Given the description of an element on the screen output the (x, y) to click on. 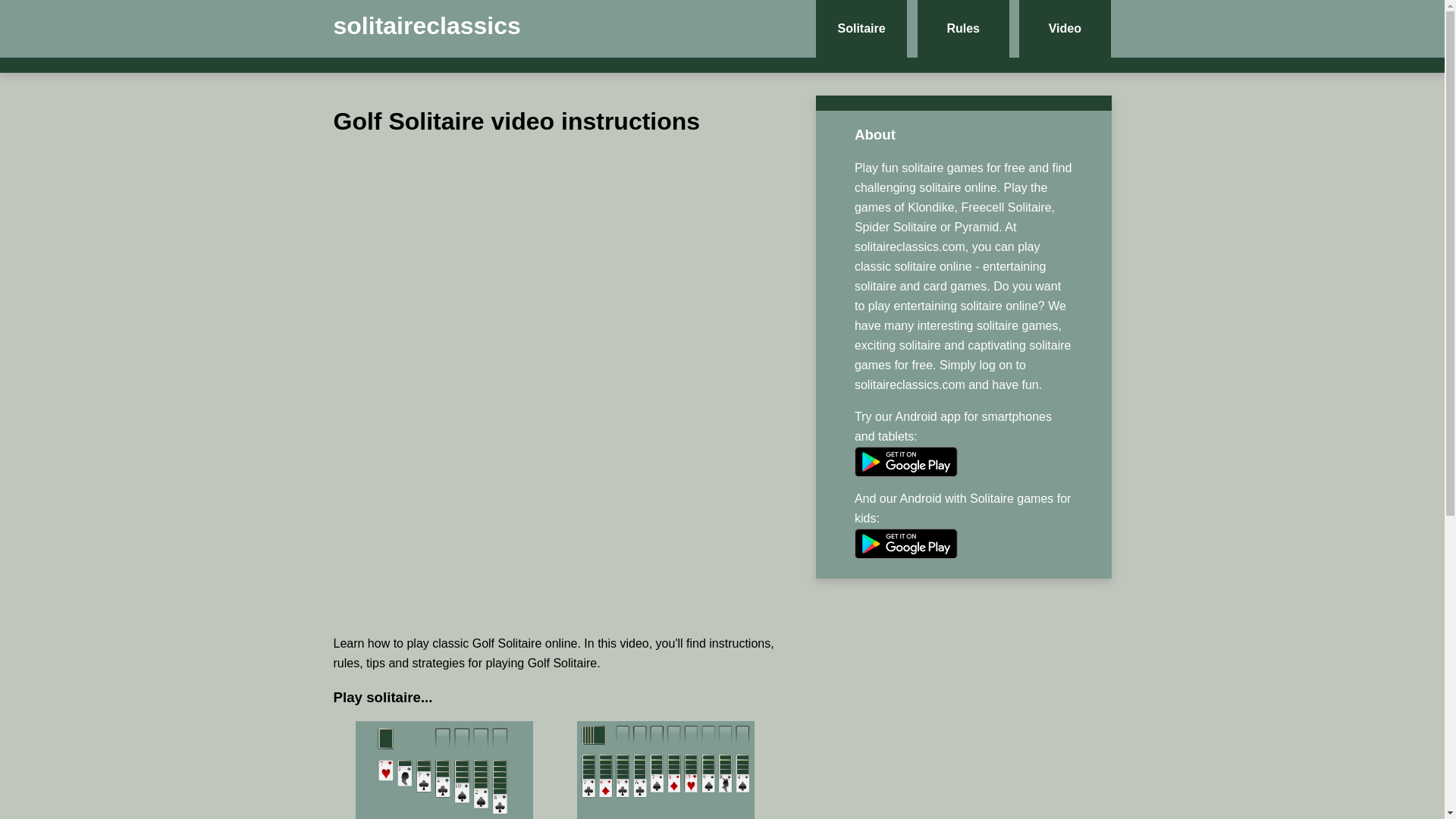
Rules (963, 28)
Solitaire (861, 28)
Advertisement (555, 515)
Video (1064, 28)
Spider Solitare (665, 791)
Klondike (443, 791)
solitaireclassics (427, 25)
